Given the description of an element on the screen output the (x, y) to click on. 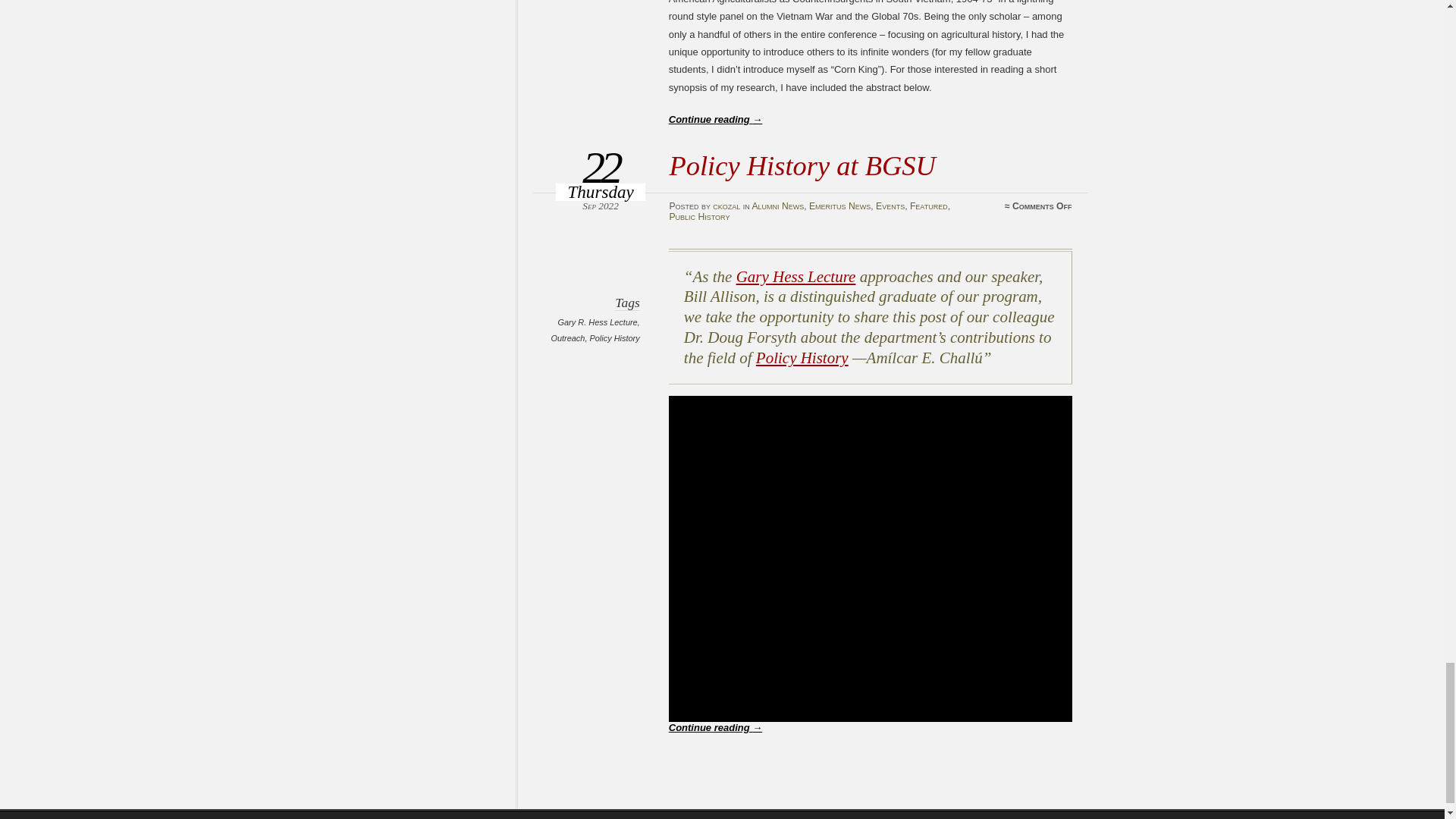
View all posts by ckozal (726, 205)
